Given the description of an element on the screen output the (x, y) to click on. 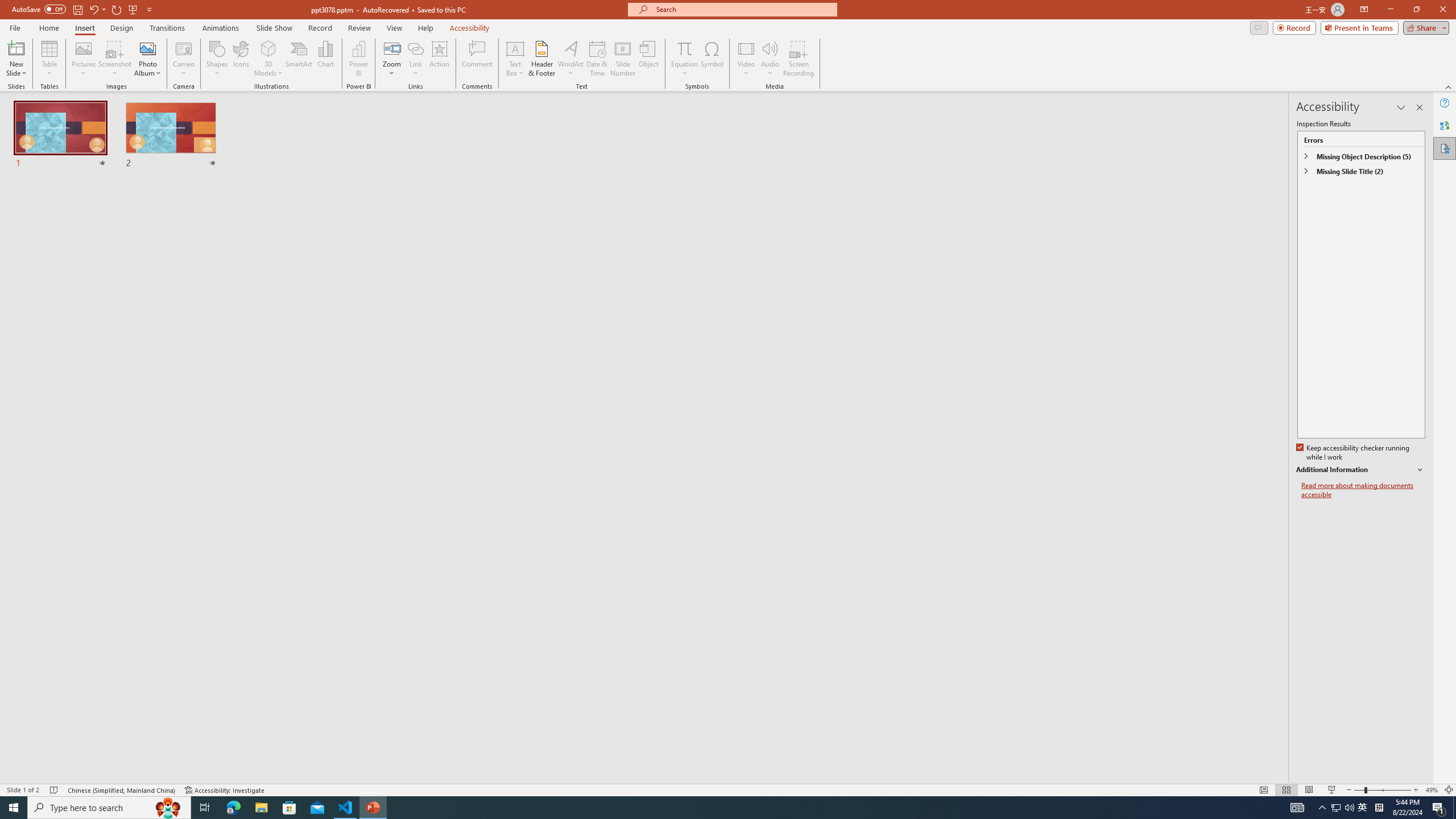
Photo Album... (147, 58)
Cameo (183, 58)
Link (415, 48)
Comment (476, 58)
